Given the description of an element on the screen output the (x, y) to click on. 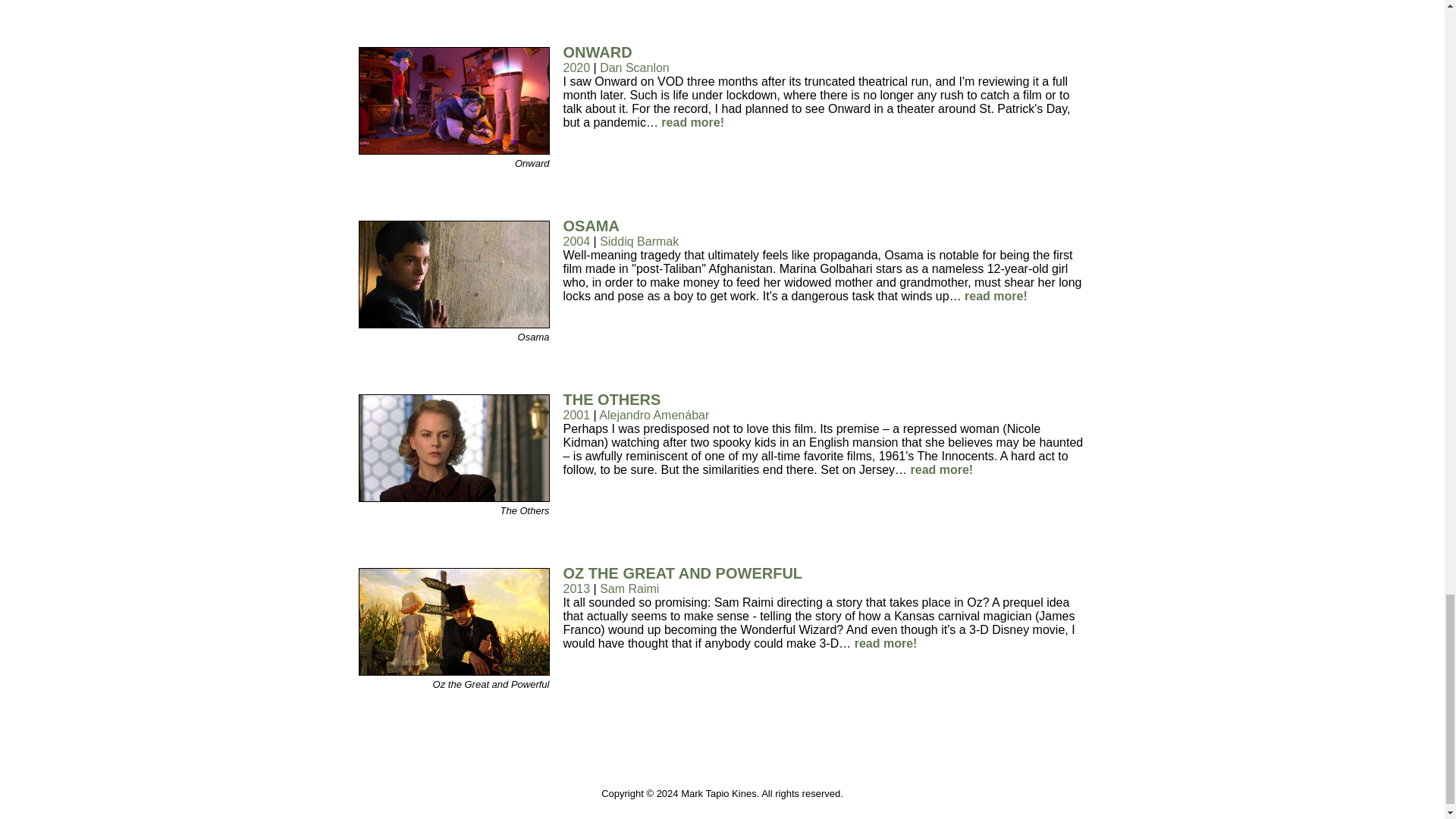
Osama (453, 323)
Onward (453, 150)
The Others (453, 497)
Oz the Great and Powerful (453, 671)
